Given the description of an element on the screen output the (x, y) to click on. 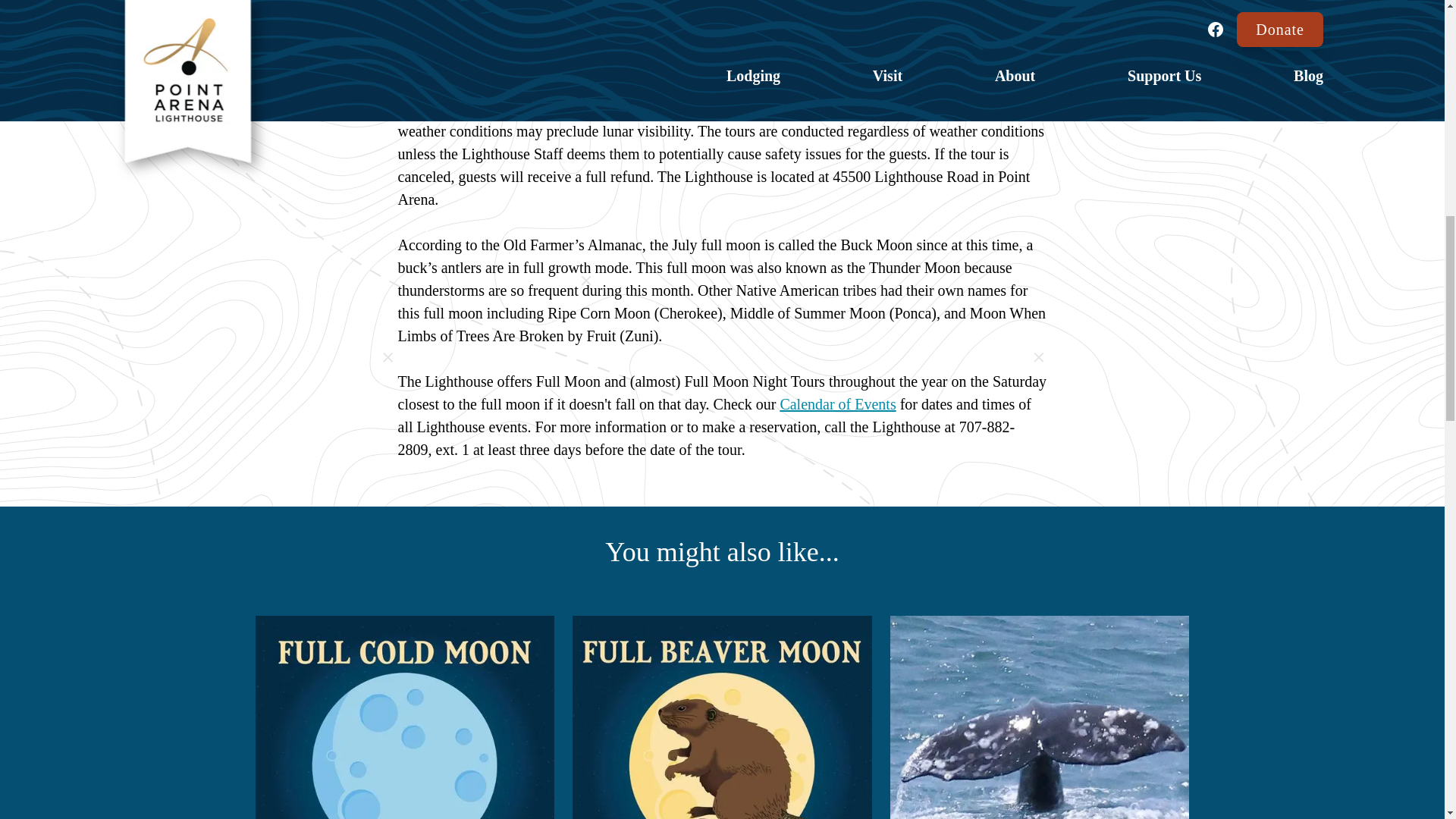
Calendar of Events (836, 403)
